Given the description of an element on the screen output the (x, y) to click on. 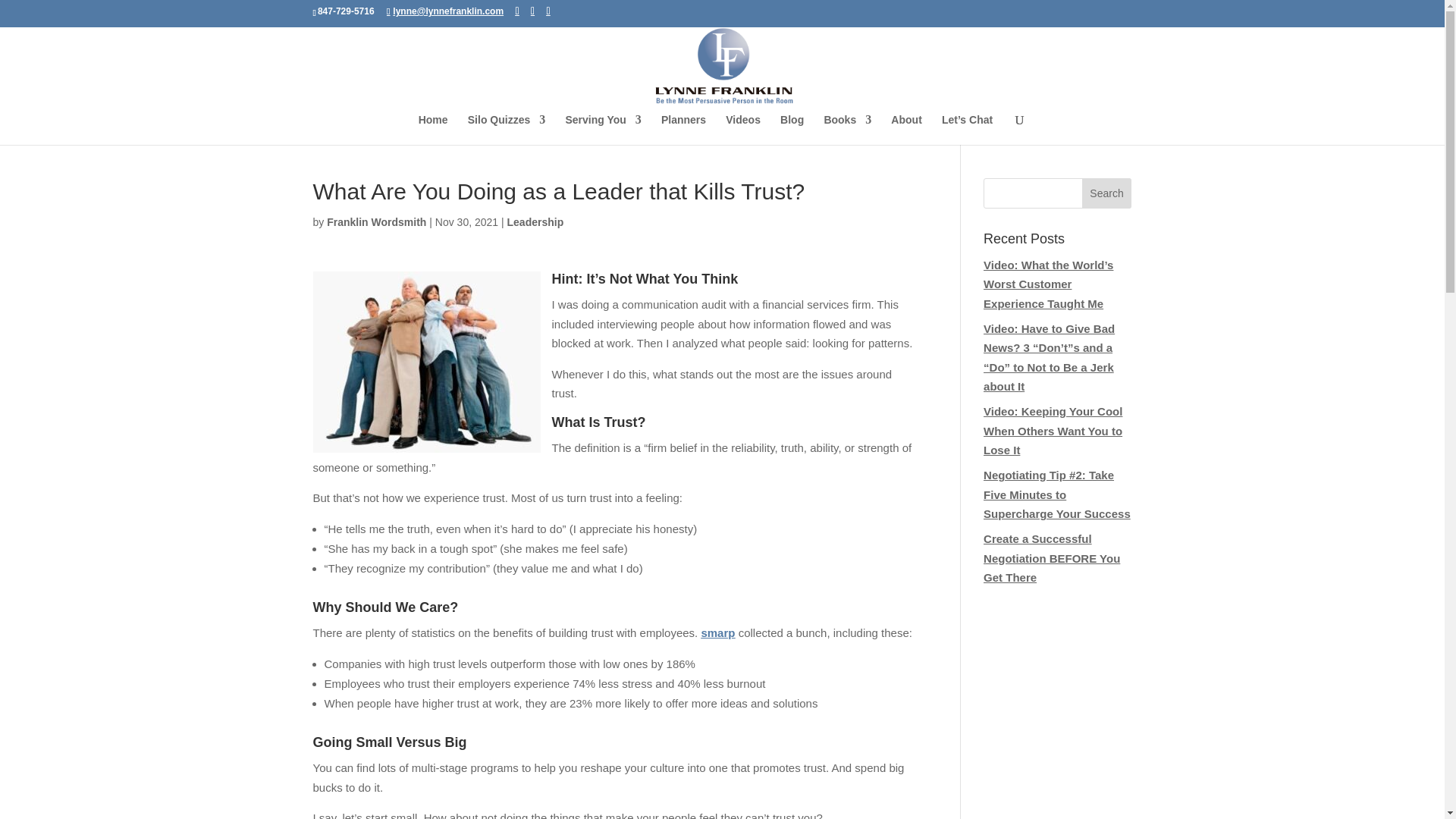
Books (847, 127)
Home (433, 127)
Search (1106, 193)
Videos (742, 127)
Silo Quizzes (505, 127)
Serving You (602, 127)
About (906, 127)
Planners (683, 127)
Posts by Franklin Wordsmith (376, 222)
